Given the description of an element on the screen output the (x, y) to click on. 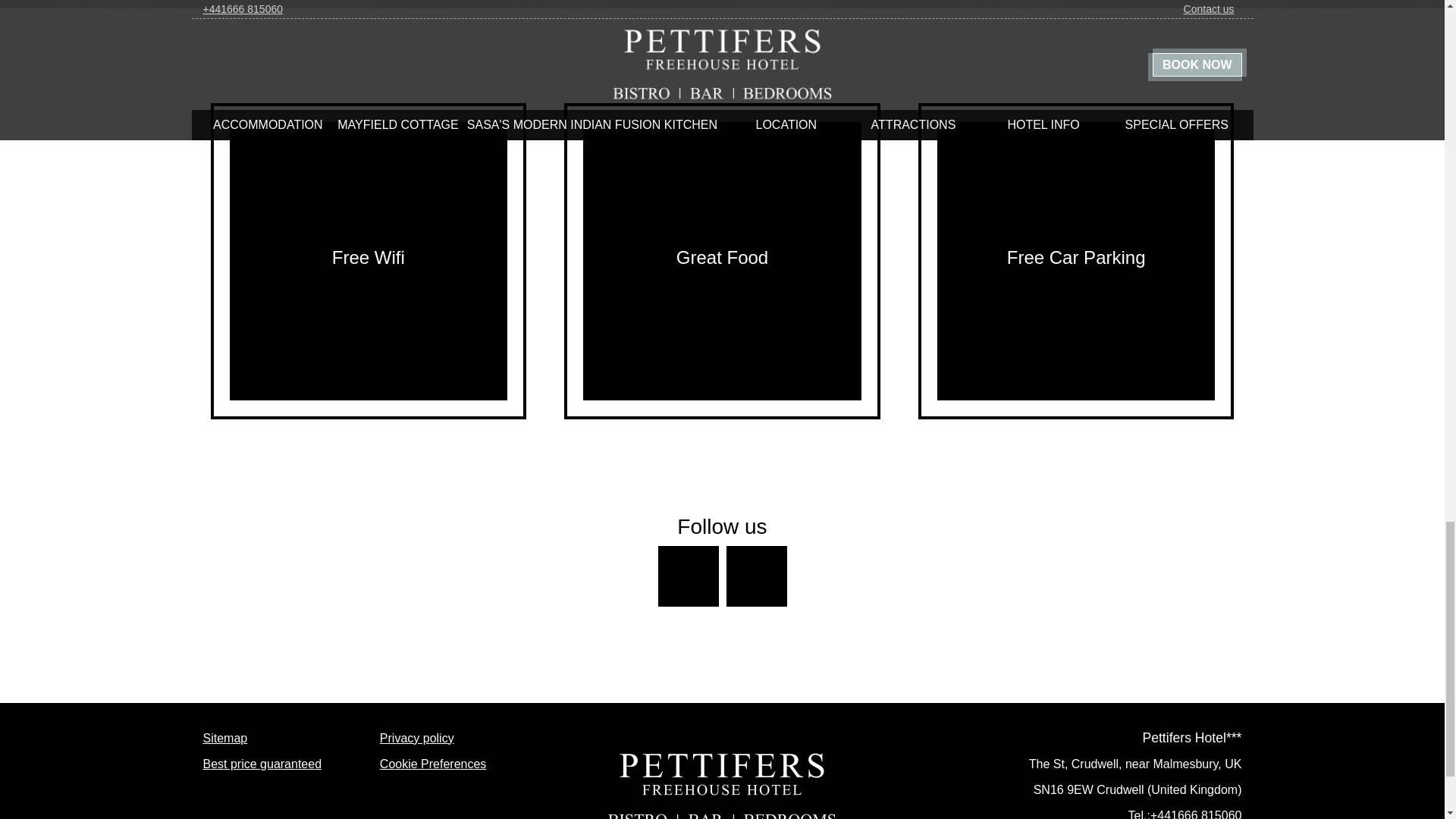
Cookie Preferences (433, 763)
Facebook (688, 576)
Tripadvisor (756, 576)
Facebook (688, 576)
